Given the description of an element on the screen output the (x, y) to click on. 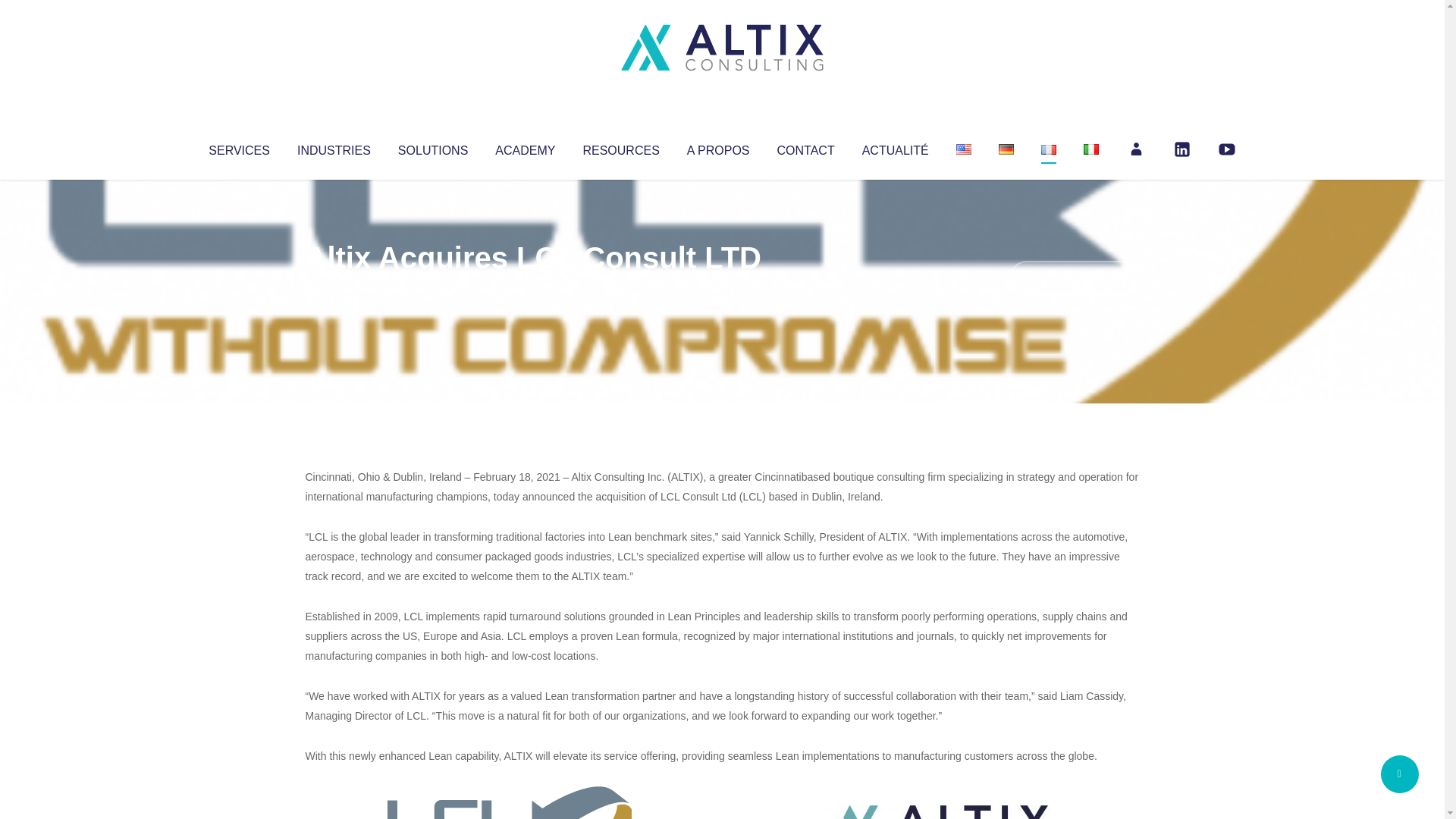
SOLUTIONS (432, 146)
A PROPOS (718, 146)
ACADEMY (524, 146)
SERVICES (238, 146)
Uncategorized (530, 287)
No Comments (1073, 278)
Altix (333, 287)
Articles par Altix (333, 287)
INDUSTRIES (334, 146)
RESOURCES (620, 146)
